Given the description of an element on the screen output the (x, y) to click on. 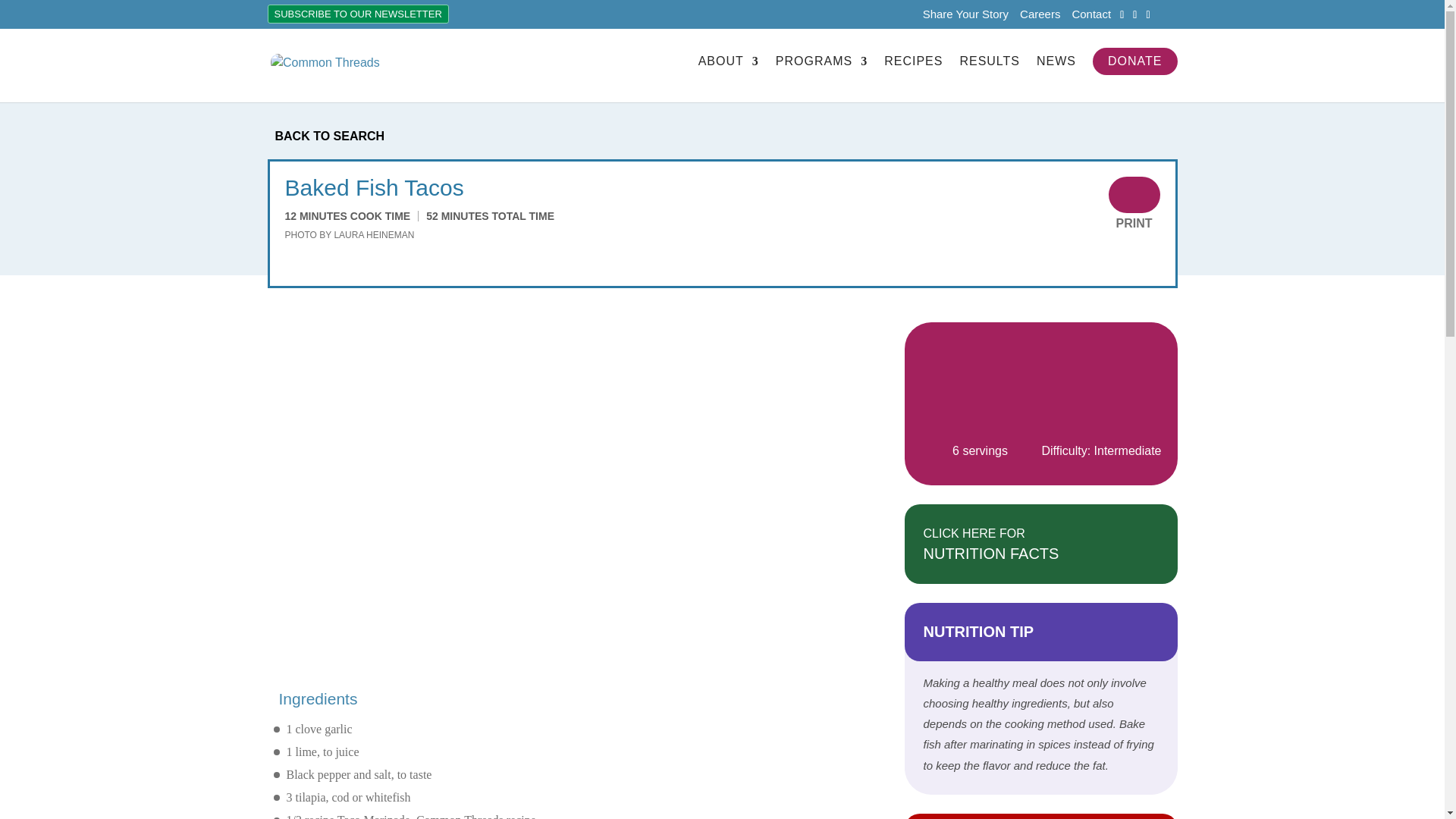
Print (1134, 194)
PROGRAMS (821, 73)
Contact (1090, 17)
NEWS (1055, 73)
BACK TO SEARCH (721, 137)
SUBSCRIBE TO OUR NEWSLETTER (358, 13)
RECIPES (912, 73)
Print (1134, 222)
DONATE (1134, 61)
ABOUT (728, 73)
